Given the description of an element on the screen output the (x, y) to click on. 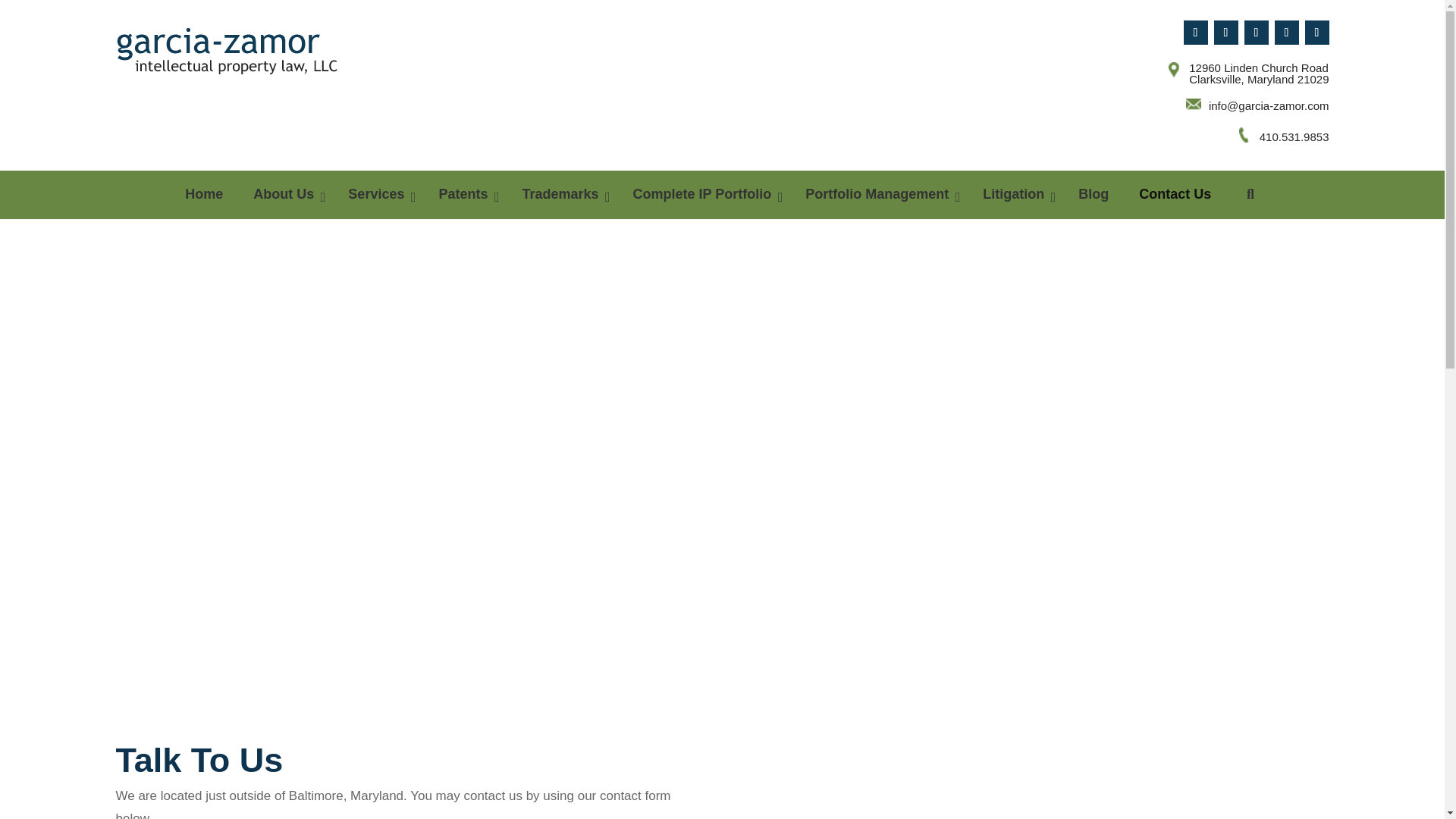
Home (204, 194)
Hebrew (241, 92)
Malay (163, 114)
About Us (285, 194)
German (202, 92)
English (163, 92)
Korean (143, 114)
French (183, 92)
Hindi (261, 92)
Services (378, 194)
